Given the description of an element on the screen output the (x, y) to click on. 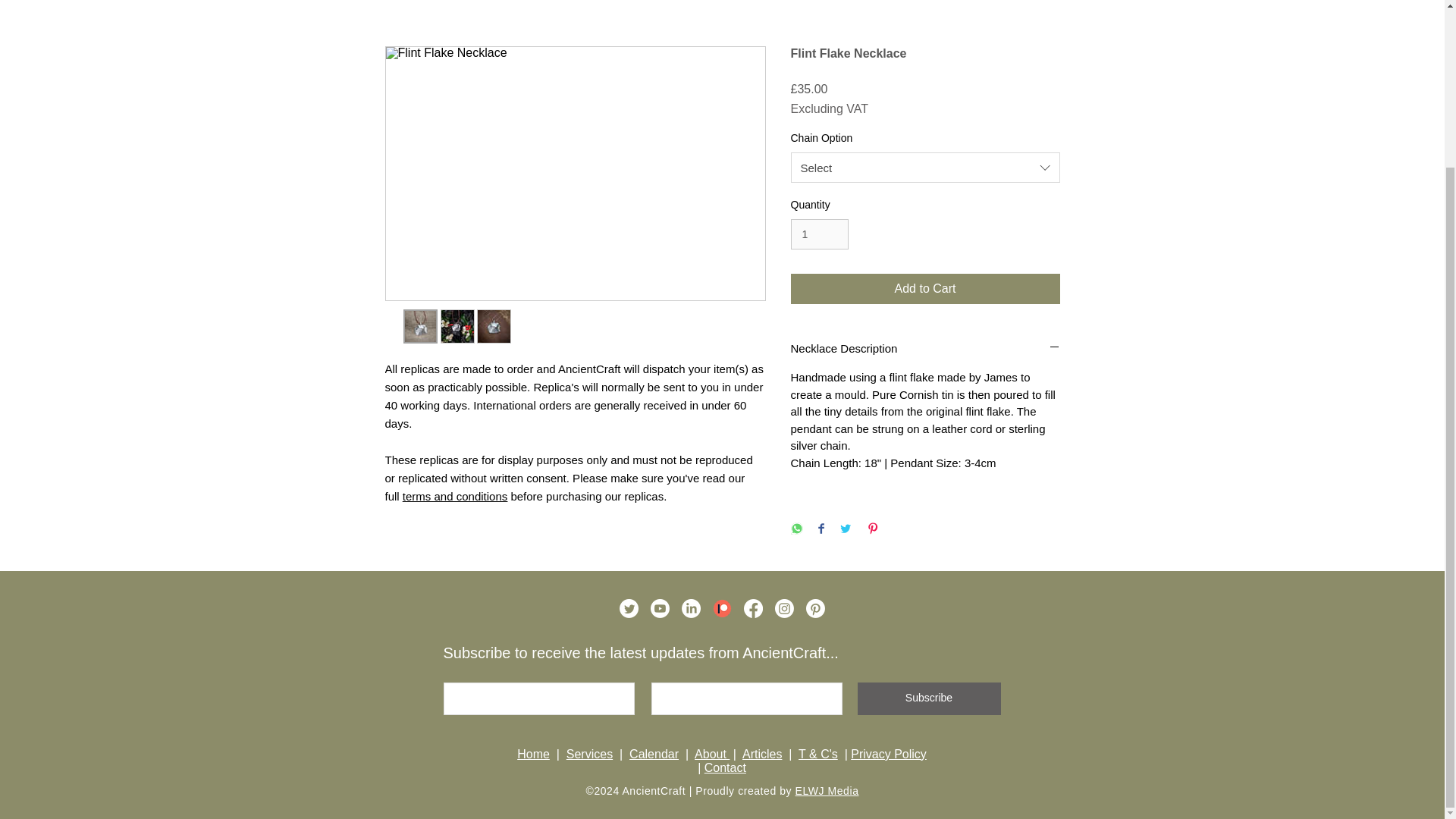
About (711, 753)
Calendar (653, 753)
terms and conditions (454, 495)
Add to Cart (924, 288)
Necklace Description (924, 348)
Select (924, 167)
Services (589, 753)
Subscribe (928, 698)
1 (818, 234)
Home (533, 753)
